Given the description of an element on the screen output the (x, y) to click on. 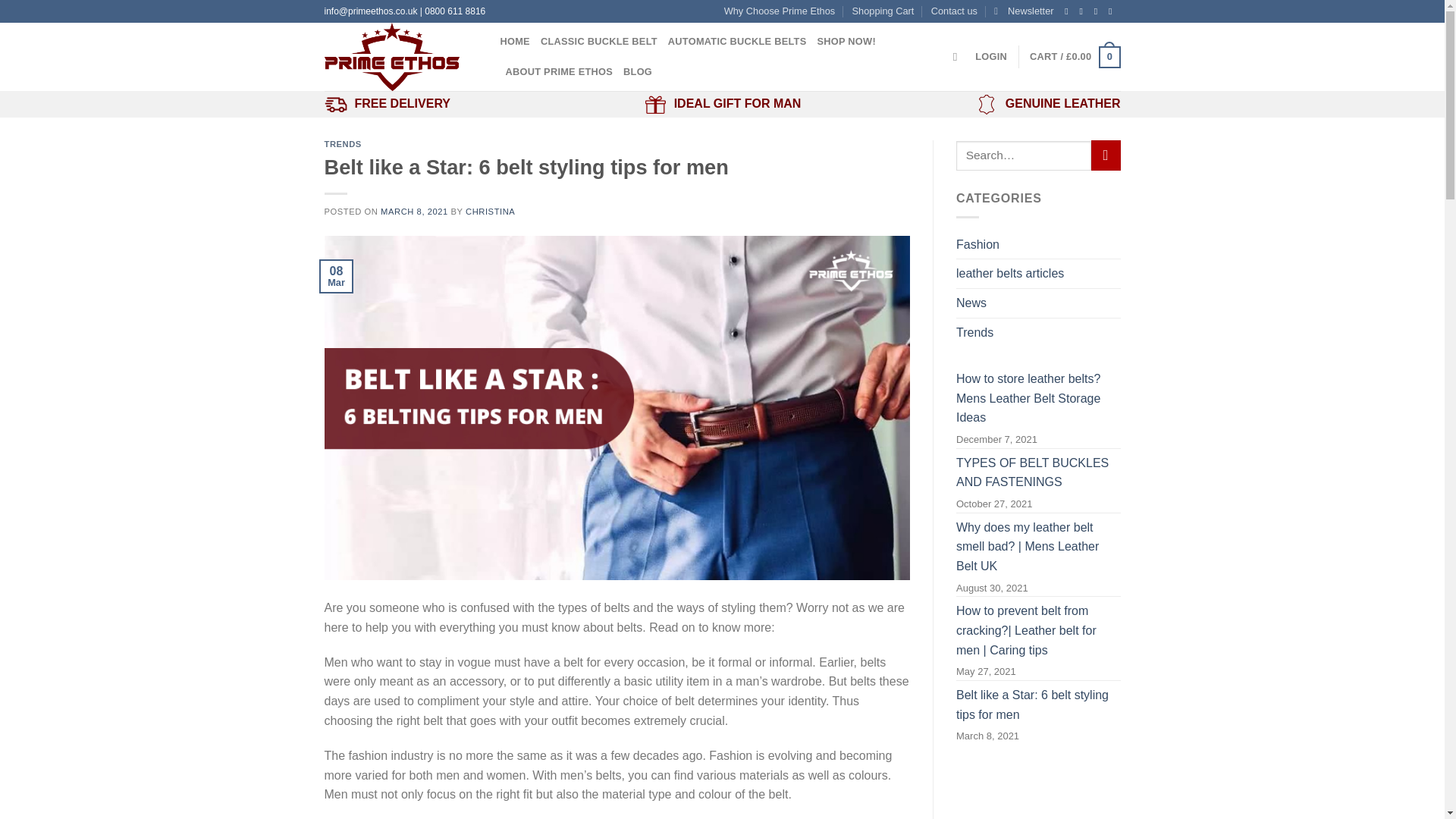
LOGIN (991, 56)
AUTOMATIC BUCKLE BELTS (737, 41)
Shopping Cart (882, 11)
Why Choose Prime Ethos (779, 11)
BLOG (637, 71)
Cart (1074, 57)
ABOUT PRIME ETHOS (558, 71)
TRENDS (342, 143)
CLASSIC BUCKLE BELT (599, 41)
HOME (514, 41)
